Given the description of an element on the screen output the (x, y) to click on. 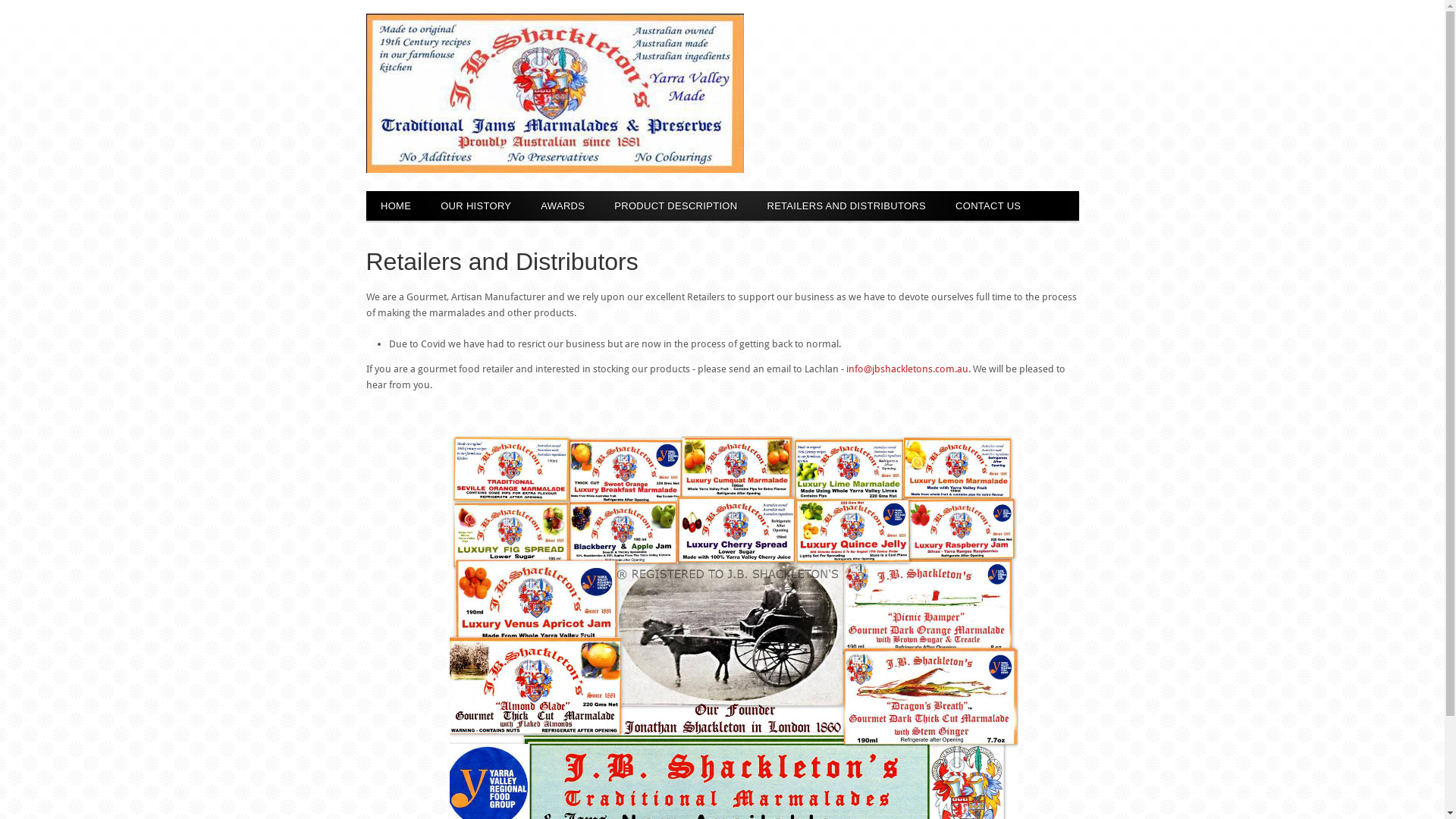
HOME Element type: text (395, 205)
RETAILERS AND DISTRIBUTORS Element type: text (846, 205)
info@jbshackletons.com.au Element type: text (907, 368)
AWARDS Element type: text (562, 205)
PRODUCT DESCRIPTION Element type: text (675, 205)
OUR HISTORY Element type: text (476, 205)
CONTACT US Element type: text (988, 205)
